Given the description of an element on the screen output the (x, y) to click on. 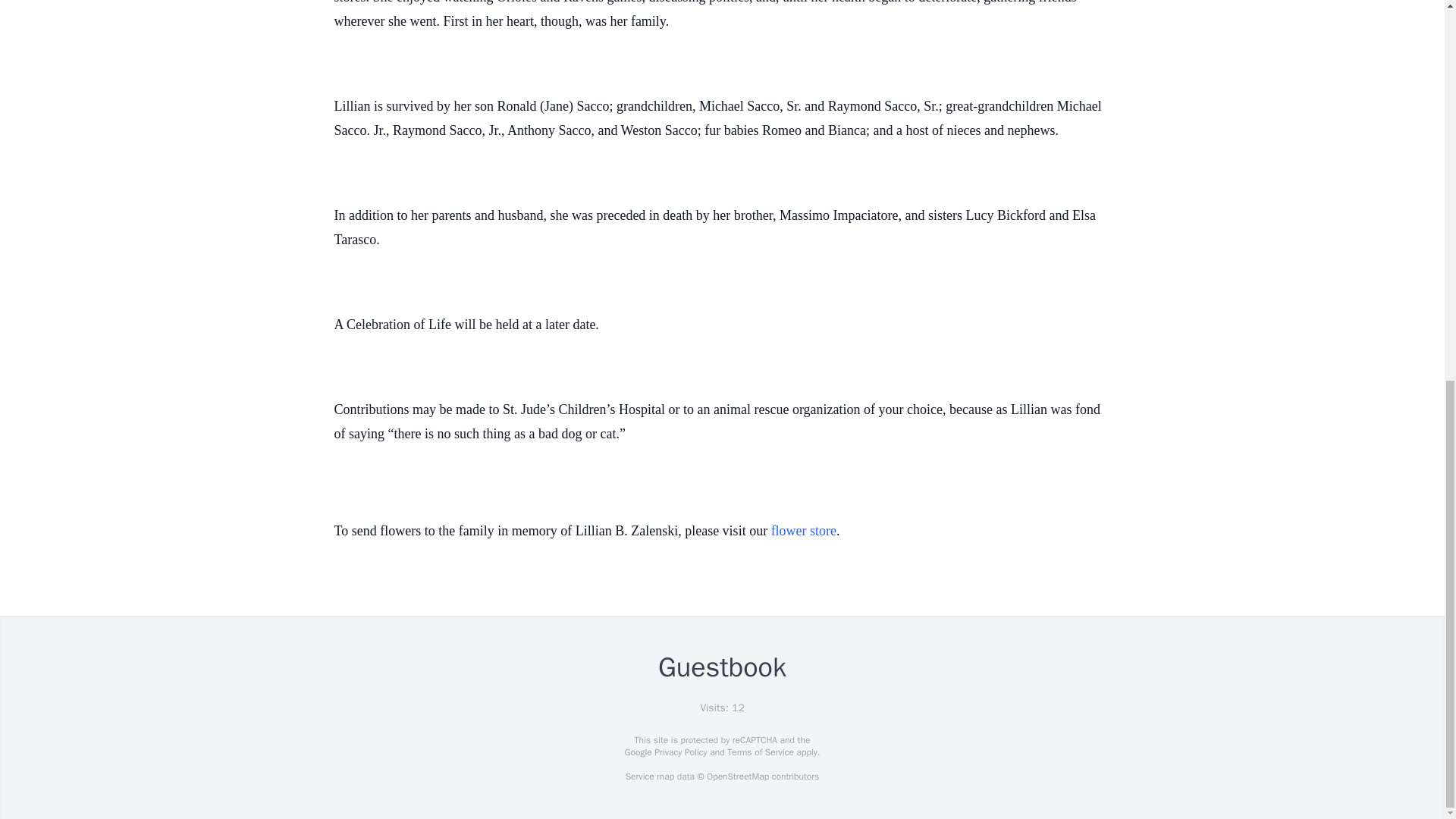
Terms of Service (759, 752)
flower store (803, 530)
OpenStreetMap (737, 776)
Privacy Policy (679, 752)
